Given the description of an element on the screen output the (x, y) to click on. 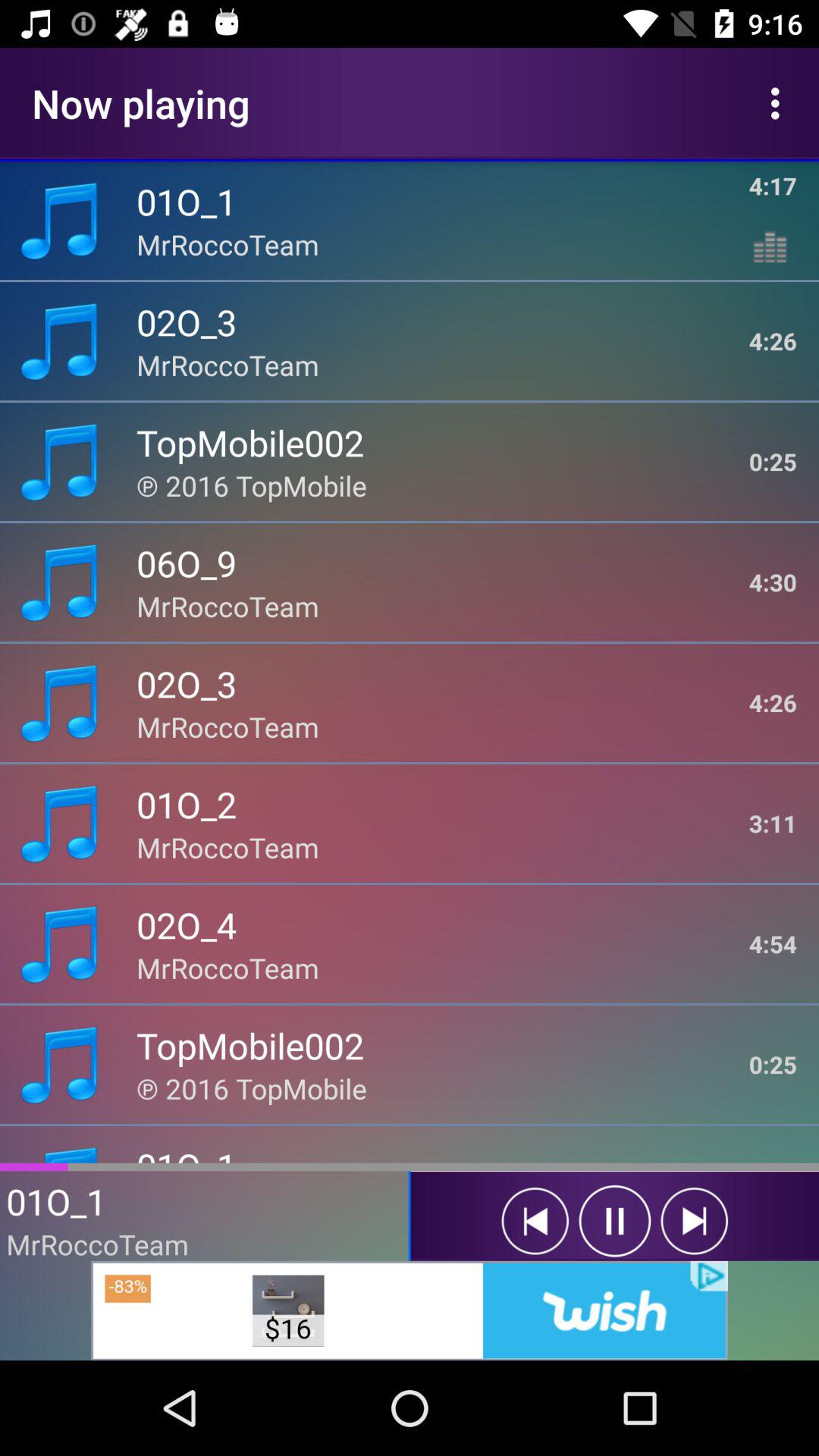
advertisement (409, 1310)
